Given the description of an element on the screen output the (x, y) to click on. 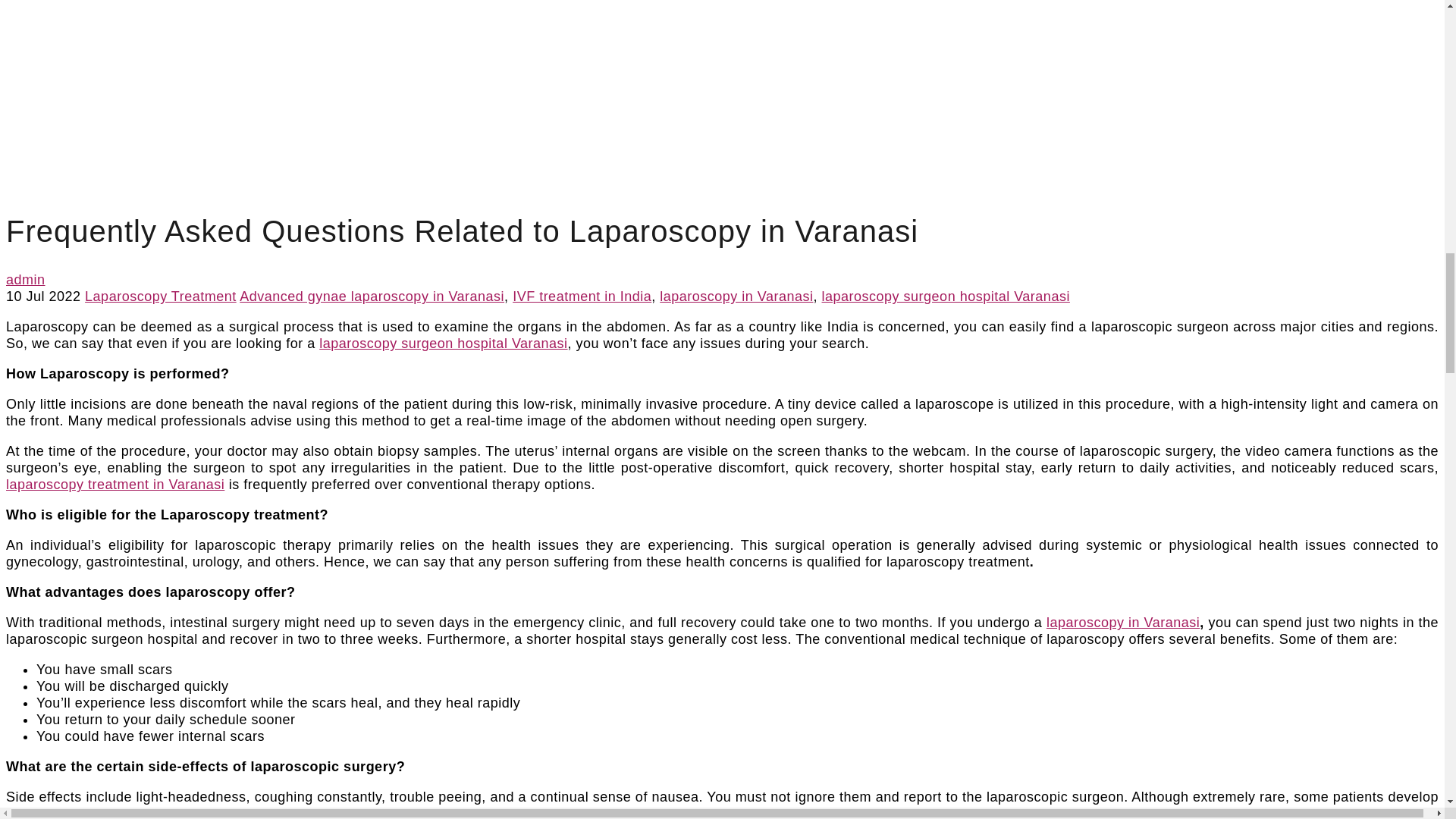
View all posts by admin (25, 279)
